Given the description of an element on the screen output the (x, y) to click on. 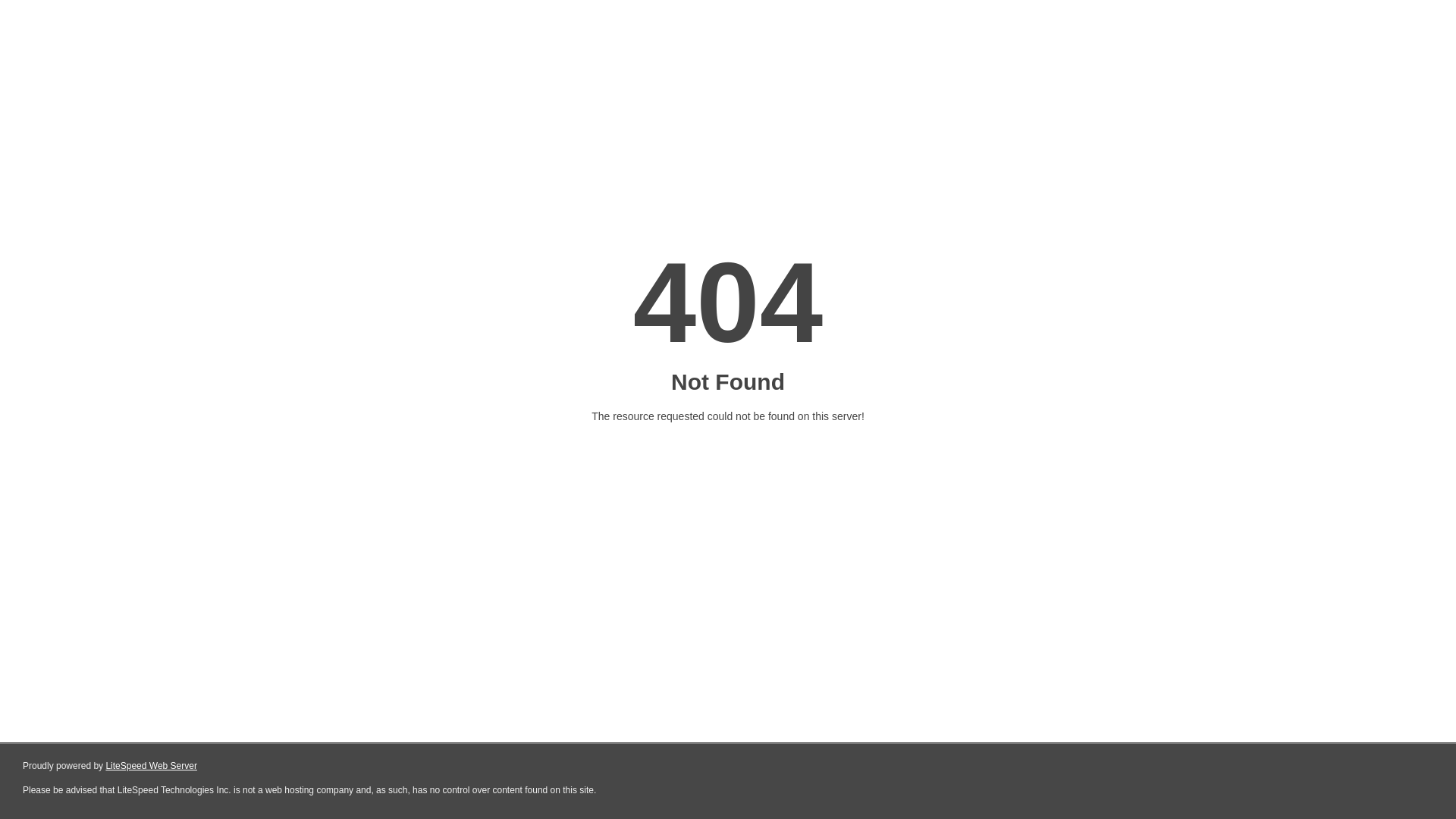
LiteSpeed Web Server Element type: text (151, 765)
